Given the description of an element on the screen output the (x, y) to click on. 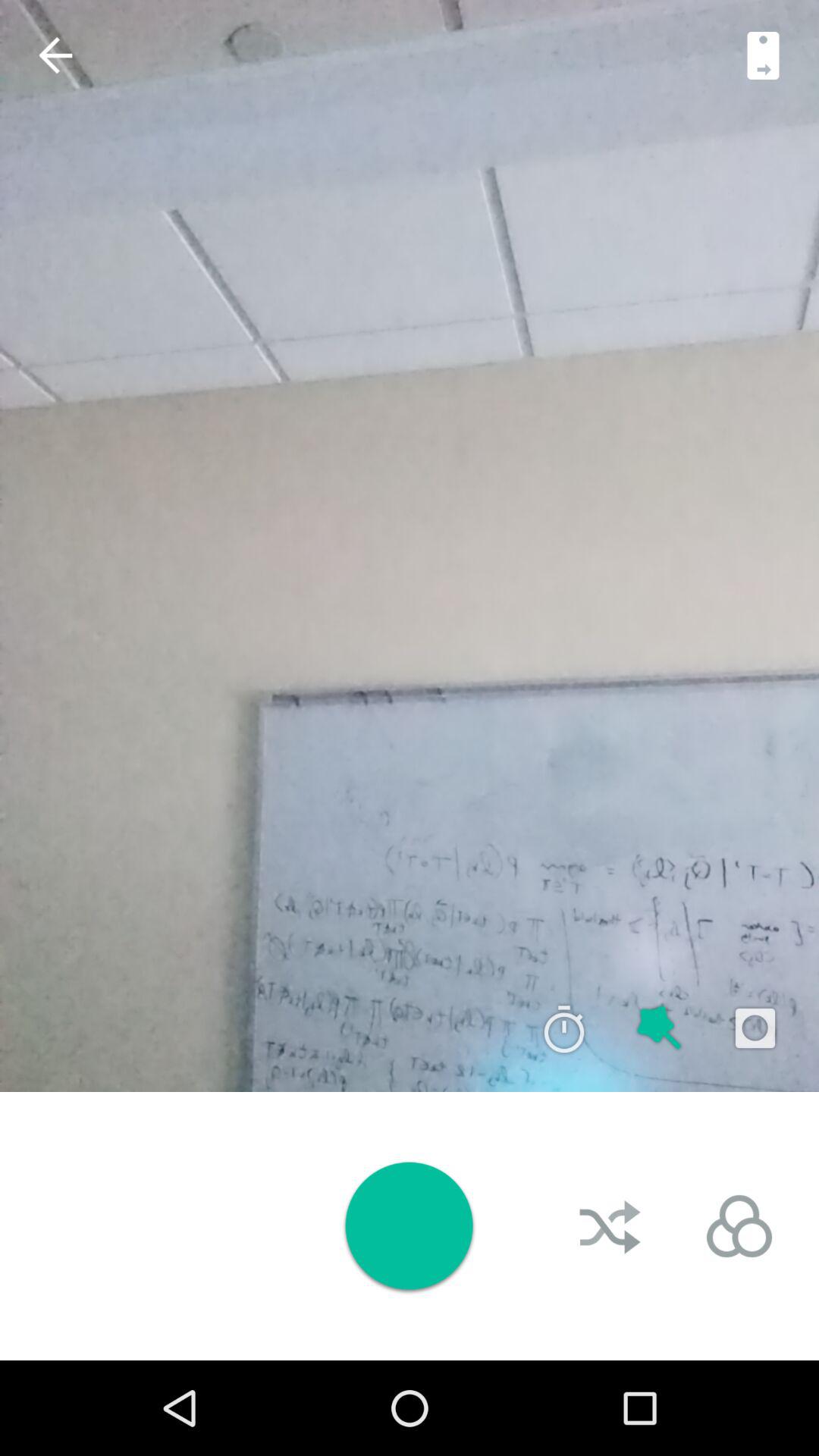
click to the zoom (659, 1028)
